Given the description of an element on the screen output the (x, y) to click on. 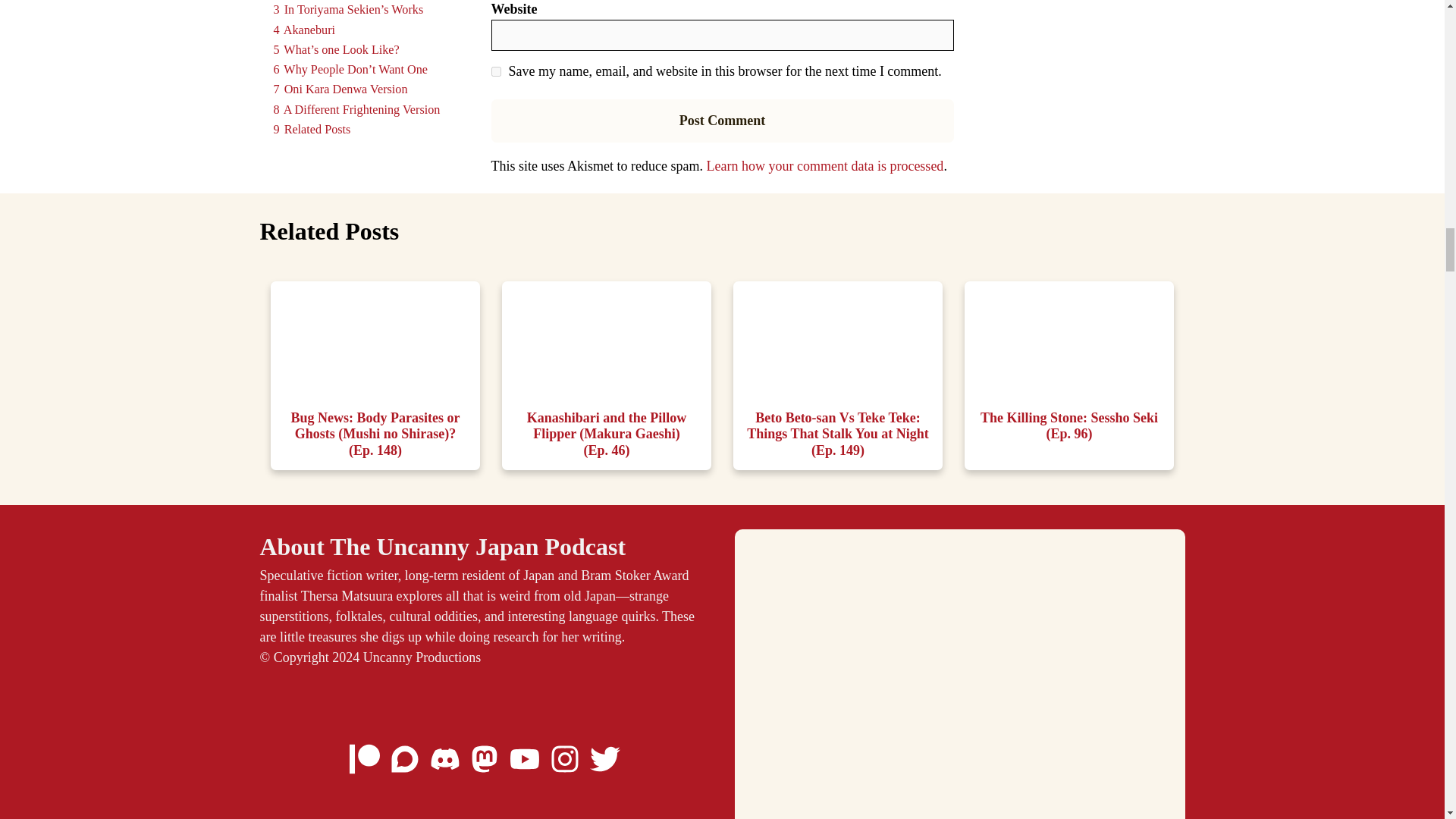
Learn how your comment data is processed (824, 165)
Post Comment (722, 120)
Post Comment (722, 120)
yes (496, 71)
